Given the description of an element on the screen output the (x, y) to click on. 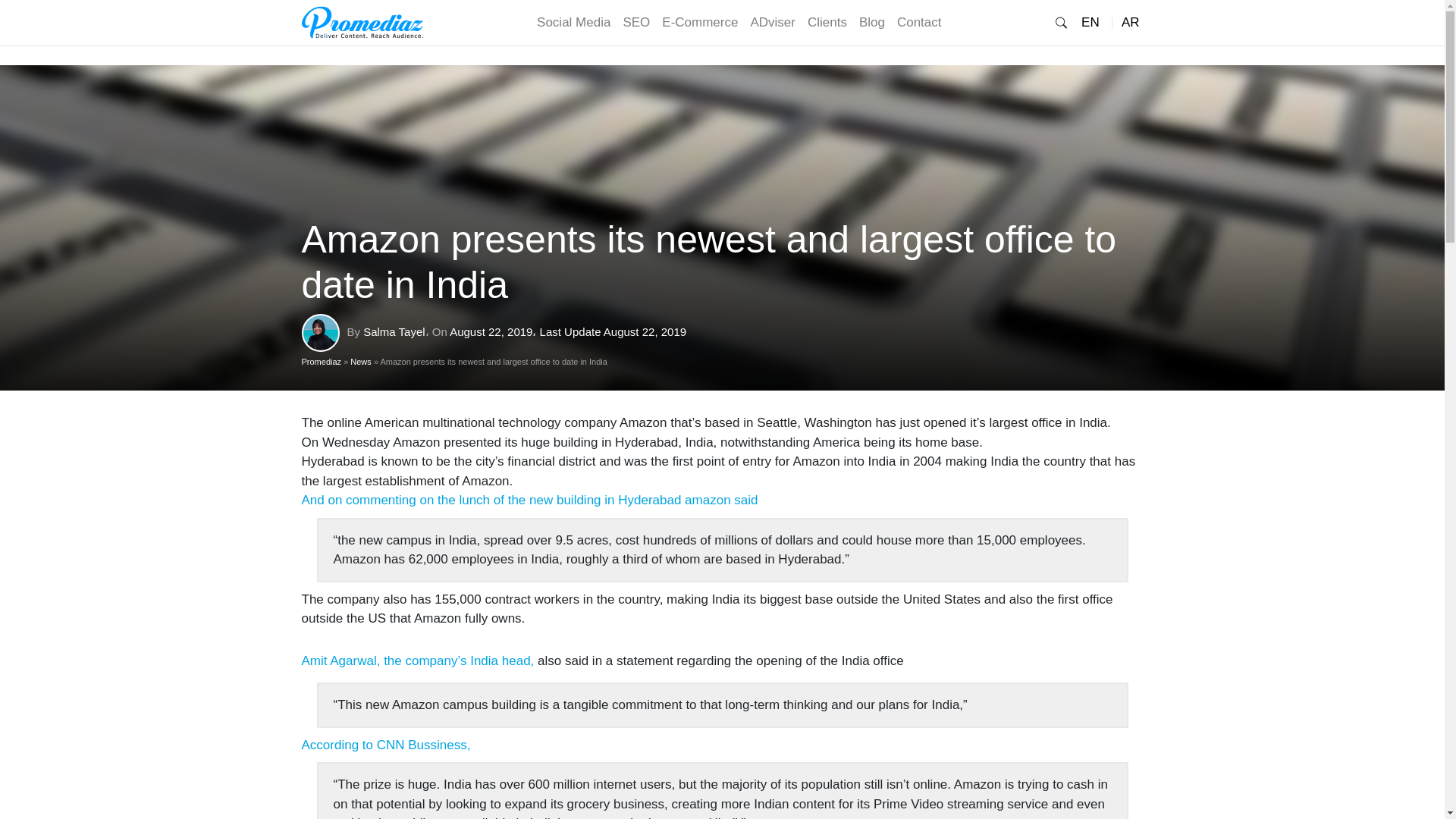
News (360, 360)
Promediaz In Arabic (1130, 22)
Blog (872, 22)
Social Media (573, 22)
E-Commerce (700, 22)
SEO (635, 22)
AR (1130, 22)
According to CNN Bussiness, (385, 744)
Promediaz (362, 22)
Contact (919, 22)
ADviser (773, 22)
Promediaz In English (1097, 22)
EN (1097, 22)
Promediaz (321, 360)
